Given the description of an element on the screen output the (x, y) to click on. 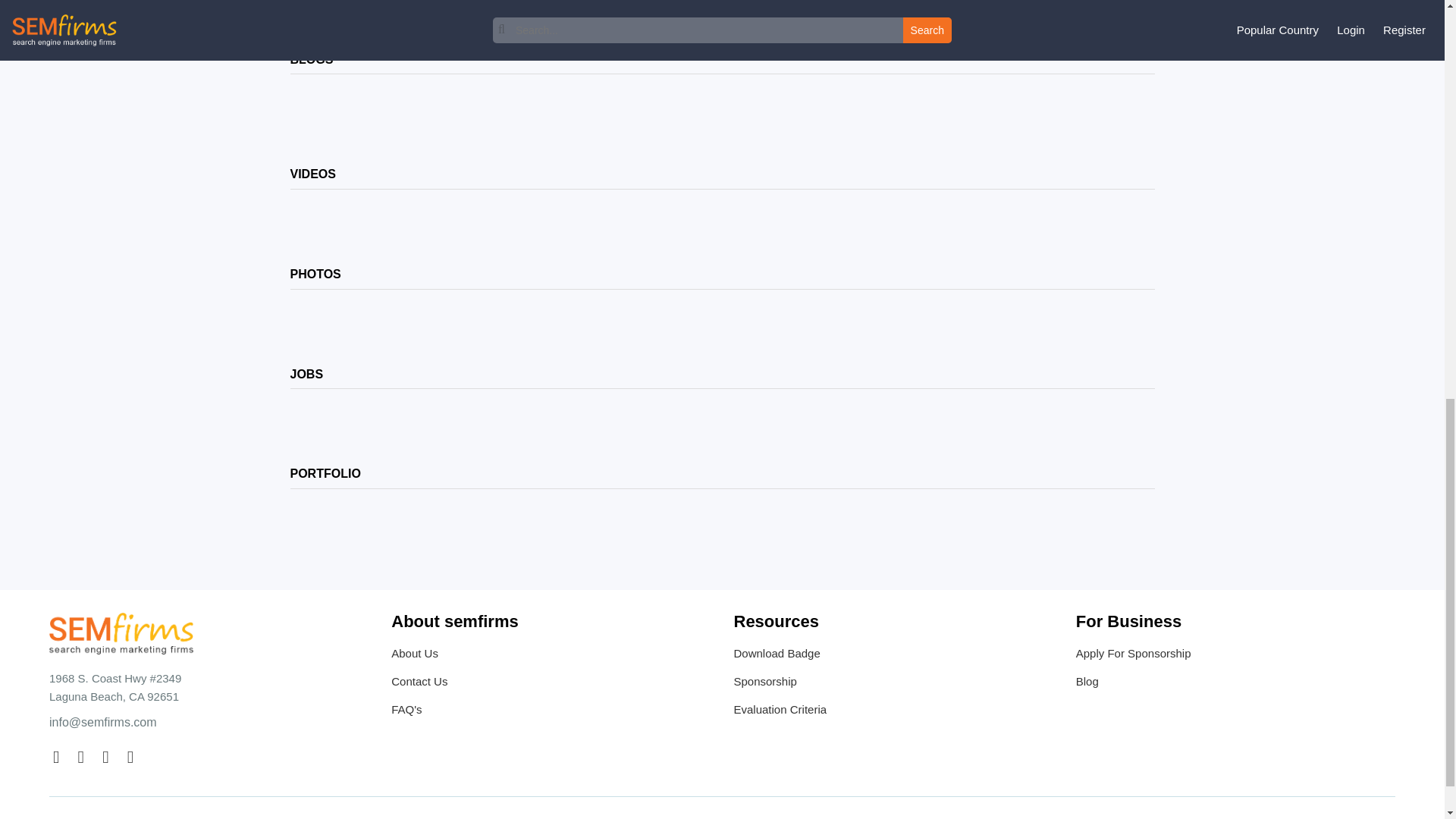
About Us (550, 655)
